Given the description of an element on the screen output the (x, y) to click on. 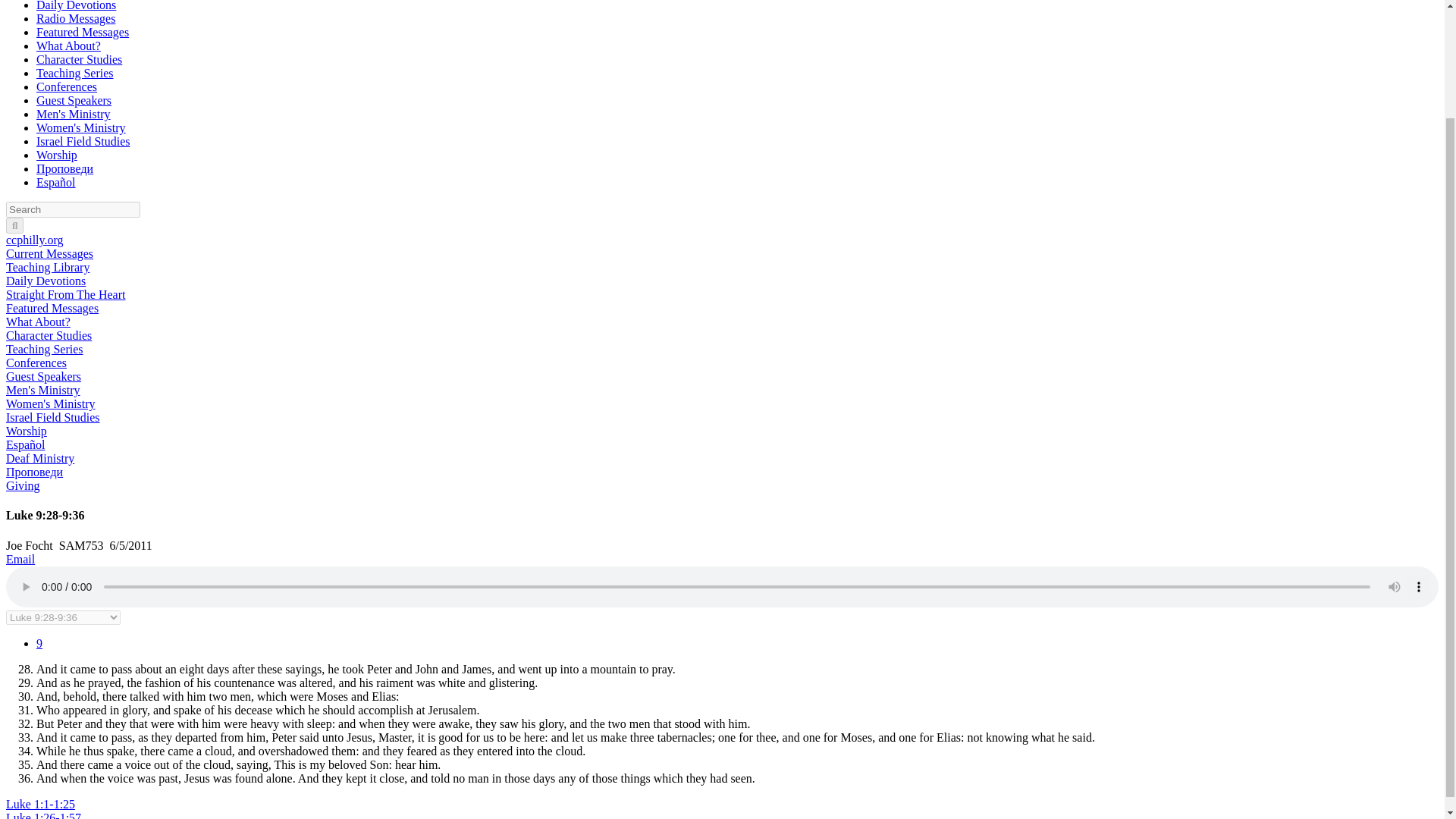
Teaching Series (74, 72)
Giving (22, 485)
Daily Devotions (45, 280)
Conferences (66, 86)
Worship (25, 431)
Men's Ministry (73, 113)
Teaching Series (74, 72)
Men's Ministry (42, 390)
Featured Messages (82, 31)
Women's Ministry (80, 127)
Character Studies (48, 335)
Guest Speakers (74, 100)
Israel Field Studies (83, 141)
What About? (68, 45)
Israel Field Studies (52, 417)
